Given the description of an element on the screen output the (x, y) to click on. 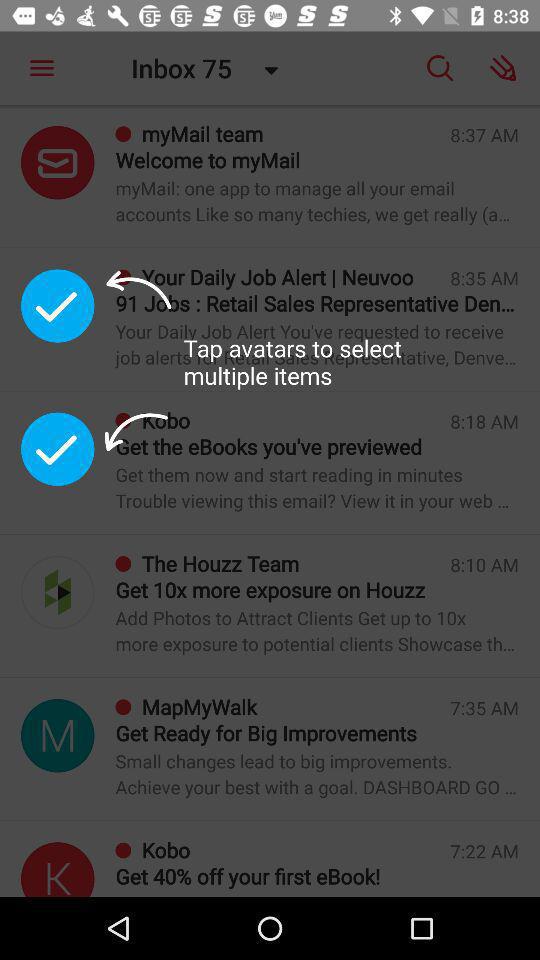
indicate the particular mail in inbox (57, 869)
